Given the description of an element on the screen output the (x, y) to click on. 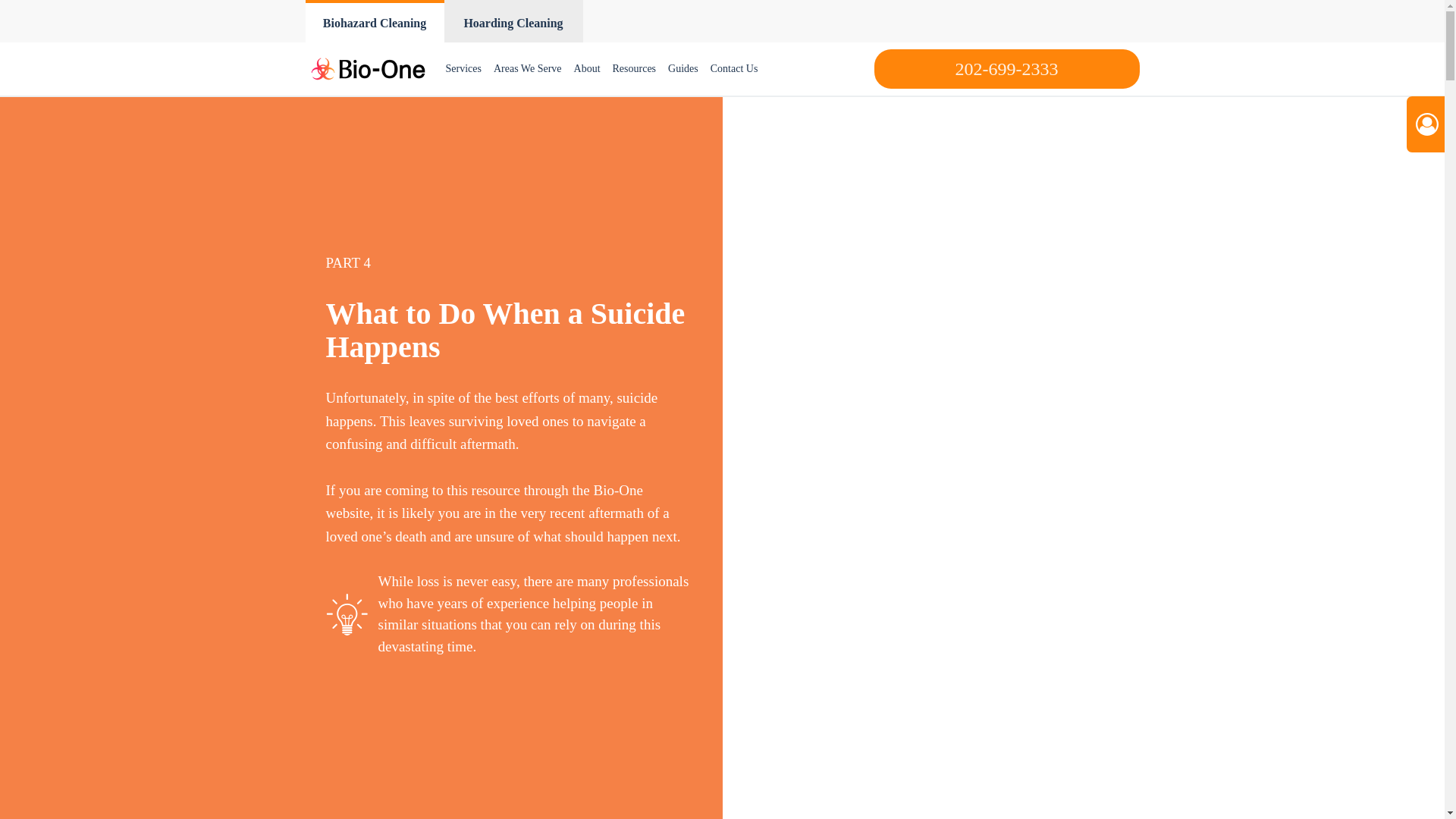
Biohazard Cleaning (374, 21)
Hoarding Cleaning (513, 21)
202-699-2333 (1005, 68)
Guides (683, 68)
Resources (634, 68)
Services (463, 68)
Contact Us (734, 68)
Areas We Serve (527, 68)
